Given the description of an element on the screen output the (x, y) to click on. 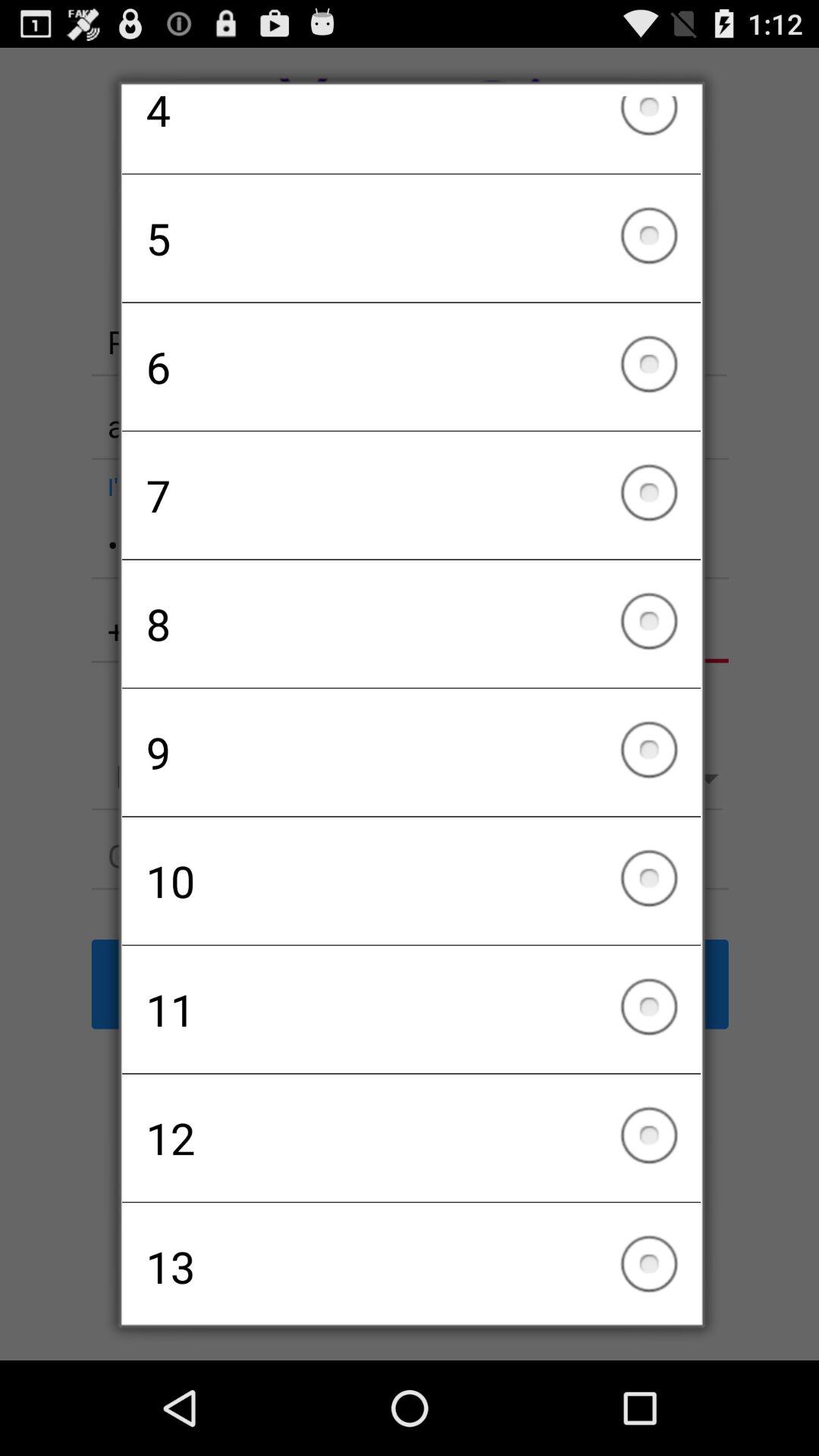
turn on 8 checkbox (411, 623)
